Given the description of an element on the screen output the (x, y) to click on. 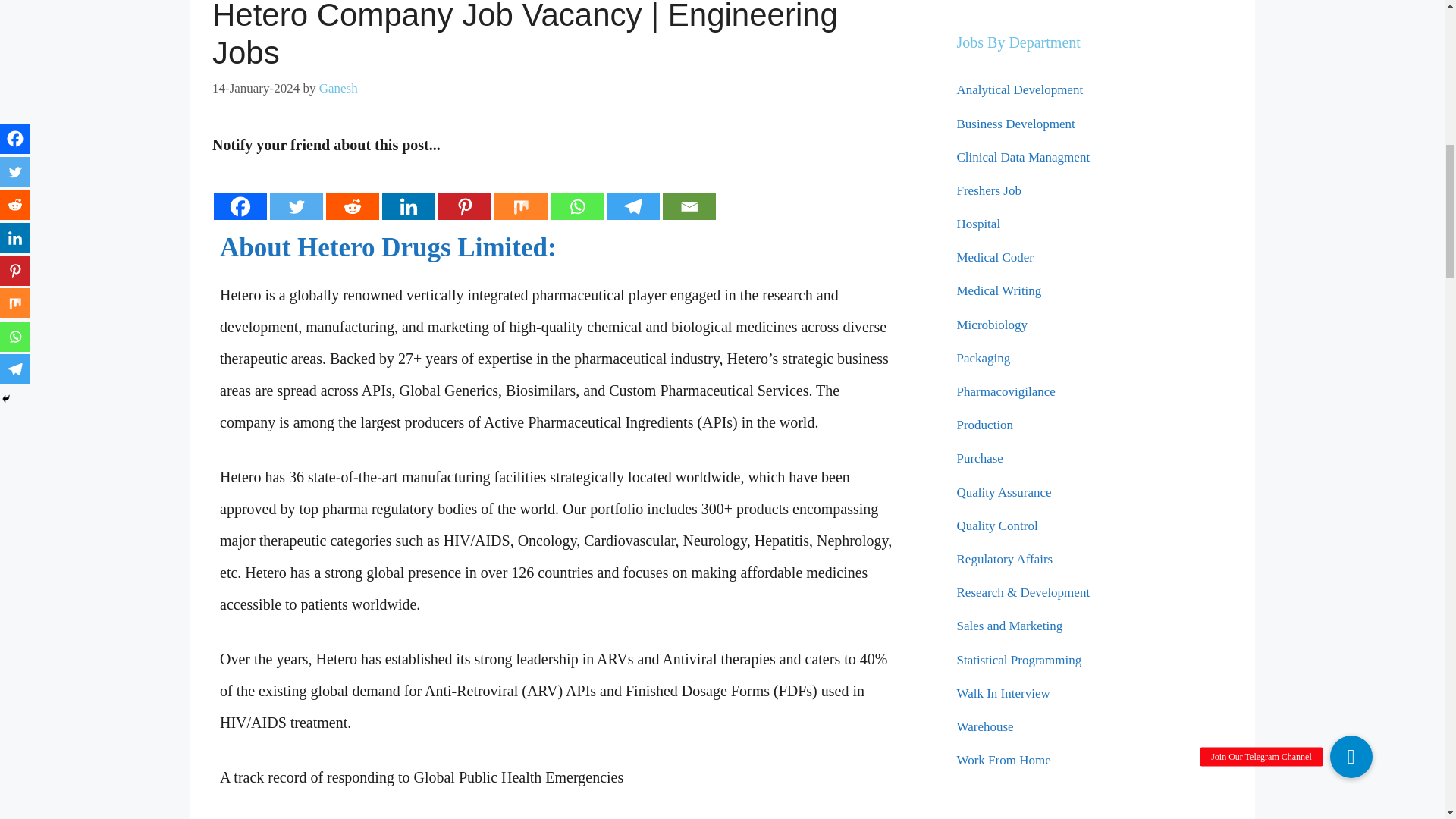
Whatsapp (577, 191)
Ganesh (338, 88)
View all posts by Ganesh (338, 88)
Email (689, 191)
Mix (521, 191)
Reddit (352, 191)
Linkedin (408, 191)
Telegram (633, 191)
Facebook (240, 191)
Twitter (296, 191)
